Given the description of an element on the screen output the (x, y) to click on. 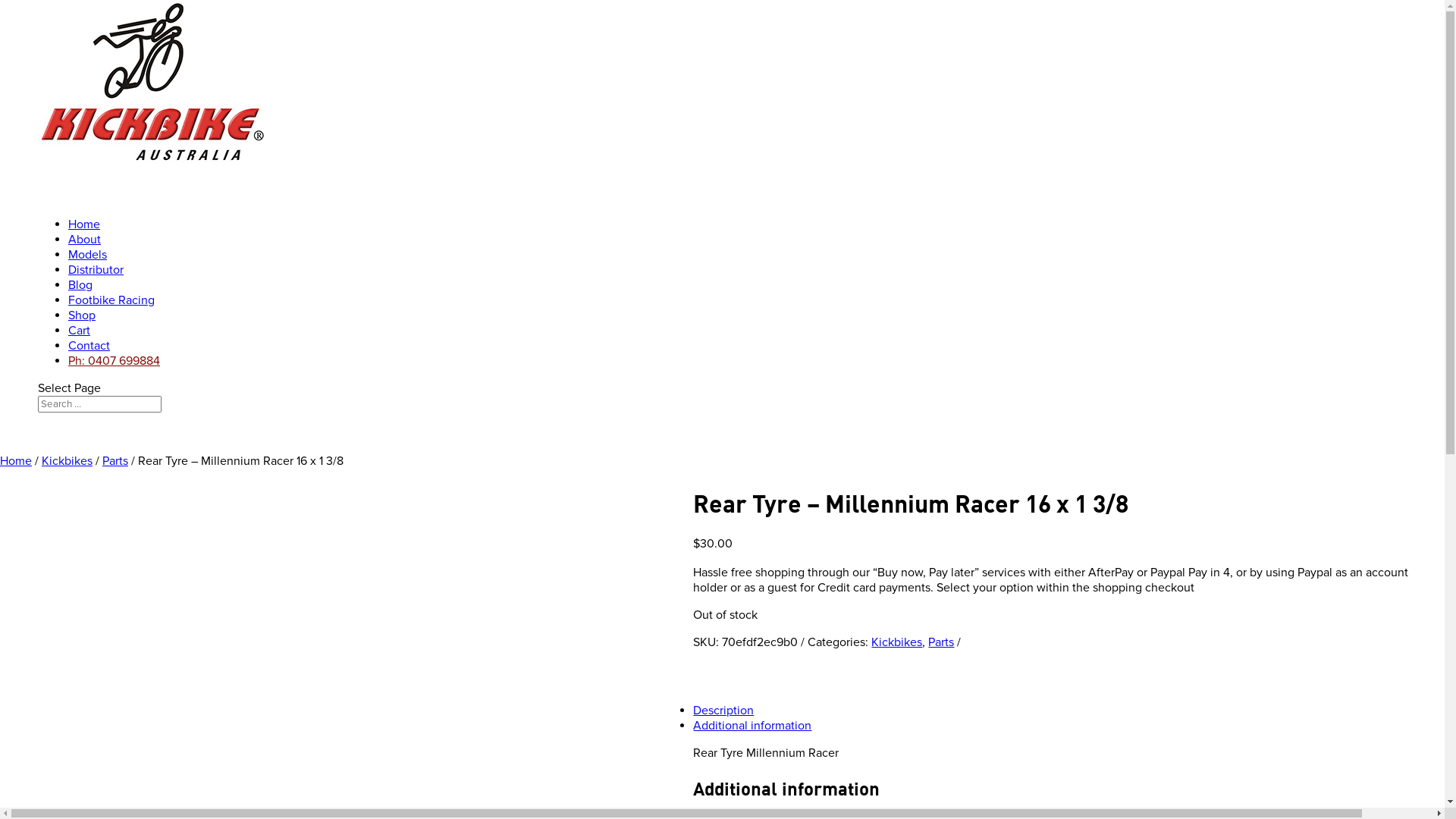
Ph: 0407 699884 Element type: text (114, 379)
Contact Element type: text (88, 364)
Home Element type: text (84, 242)
Additional information Element type: text (752, 725)
Footbike Racing Element type: text (111, 318)
Cart Element type: text (79, 349)
Home Element type: text (15, 460)
Parts Element type: text (115, 460)
About Element type: text (84, 258)
Shop Element type: text (81, 333)
Description Element type: text (723, 710)
Search for: Element type: hover (99, 403)
Blog Element type: text (80, 303)
Kickbikes Element type: text (66, 460)
Parts Element type: text (940, 641)
Kickbikes Element type: text (896, 641)
Distributor Element type: text (95, 288)
Models Element type: text (87, 273)
